Given the description of an element on the screen output the (x, y) to click on. 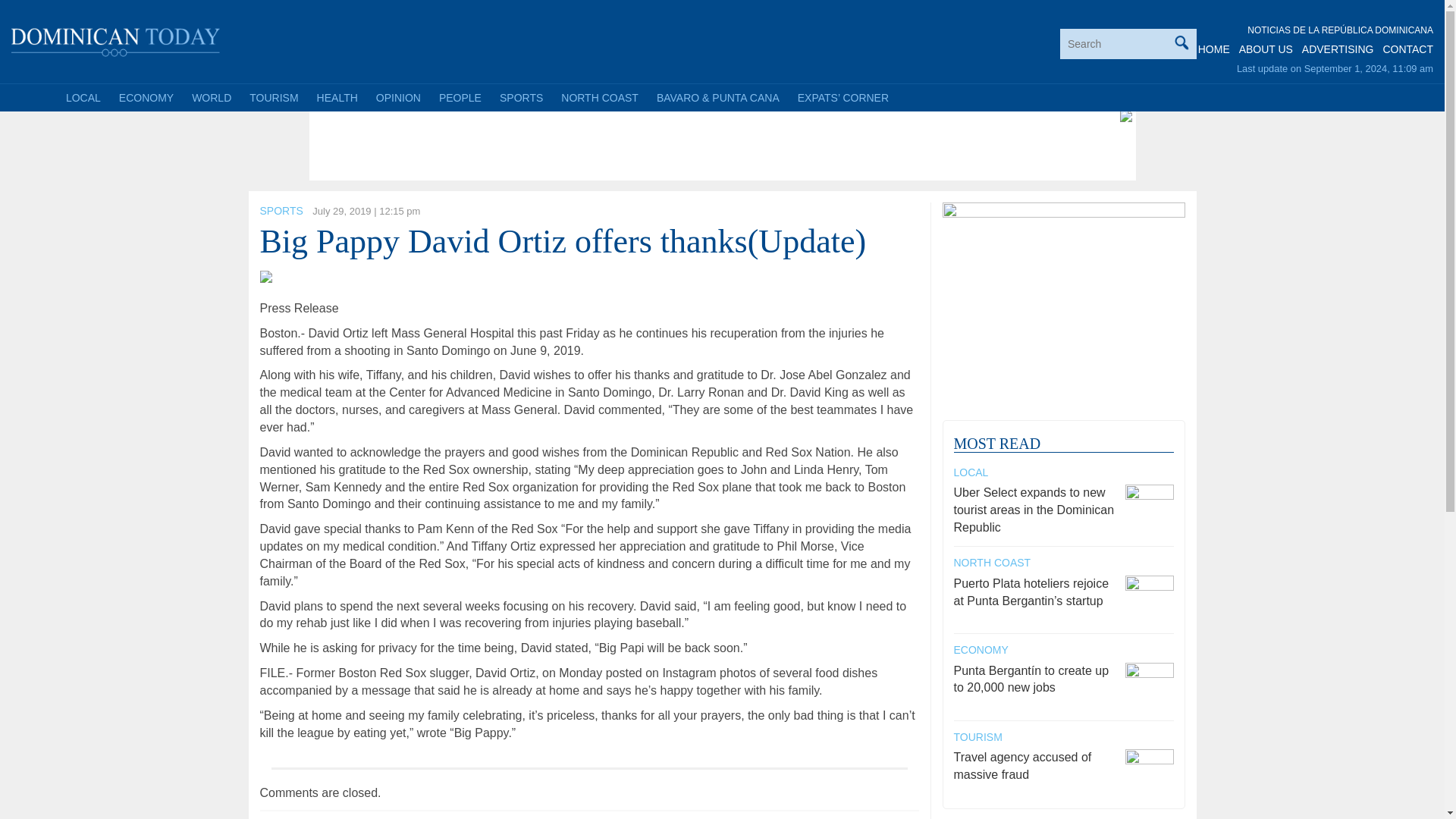
SPORTS (520, 97)
WORLD (211, 97)
ECONOMY (146, 97)
TOURISM (273, 97)
LOCAL (83, 97)
ADVERTISING (1337, 49)
SPORTS (280, 210)
PEOPLE (459, 97)
HOME (1214, 49)
